Given the description of an element on the screen output the (x, y) to click on. 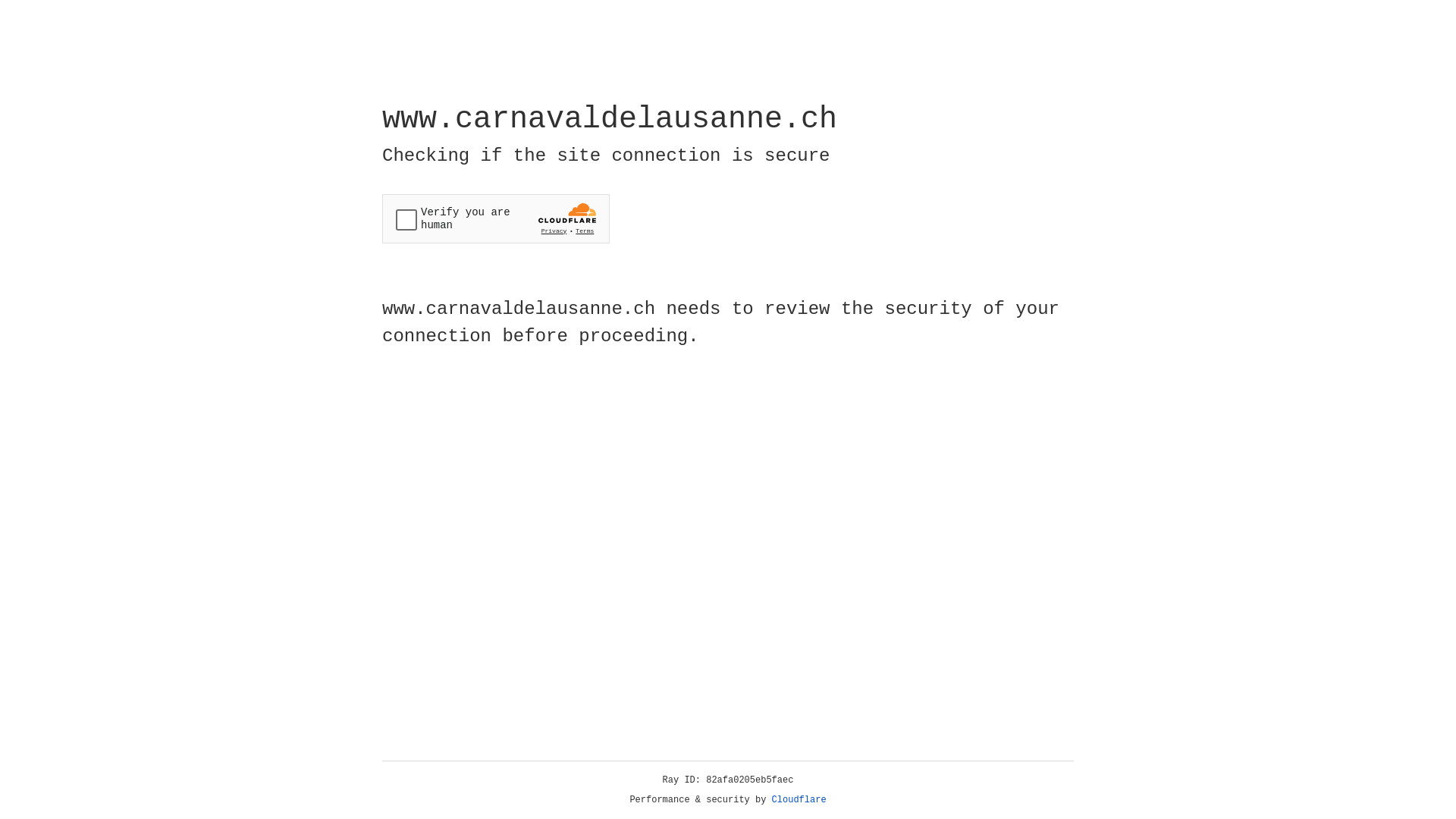
Widget containing a Cloudflare security challenge Element type: hover (495, 218)
Cloudflare Element type: text (798, 799)
